Given the description of an element on the screen output the (x, y) to click on. 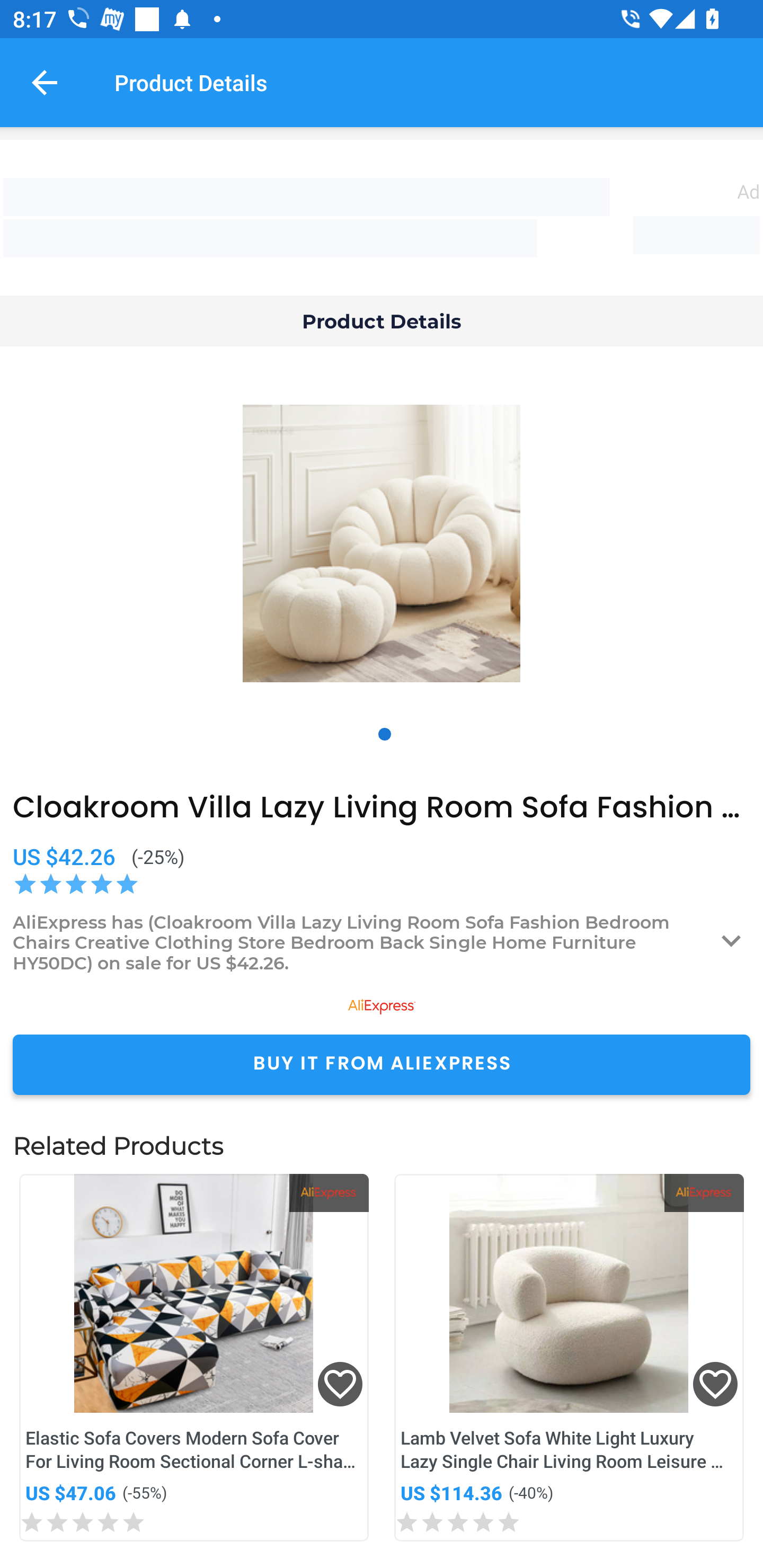
Navigate up (44, 82)
BUY IT FROM ALIEXPRESS (381, 1064)
